Given the description of an element on the screen output the (x, y) to click on. 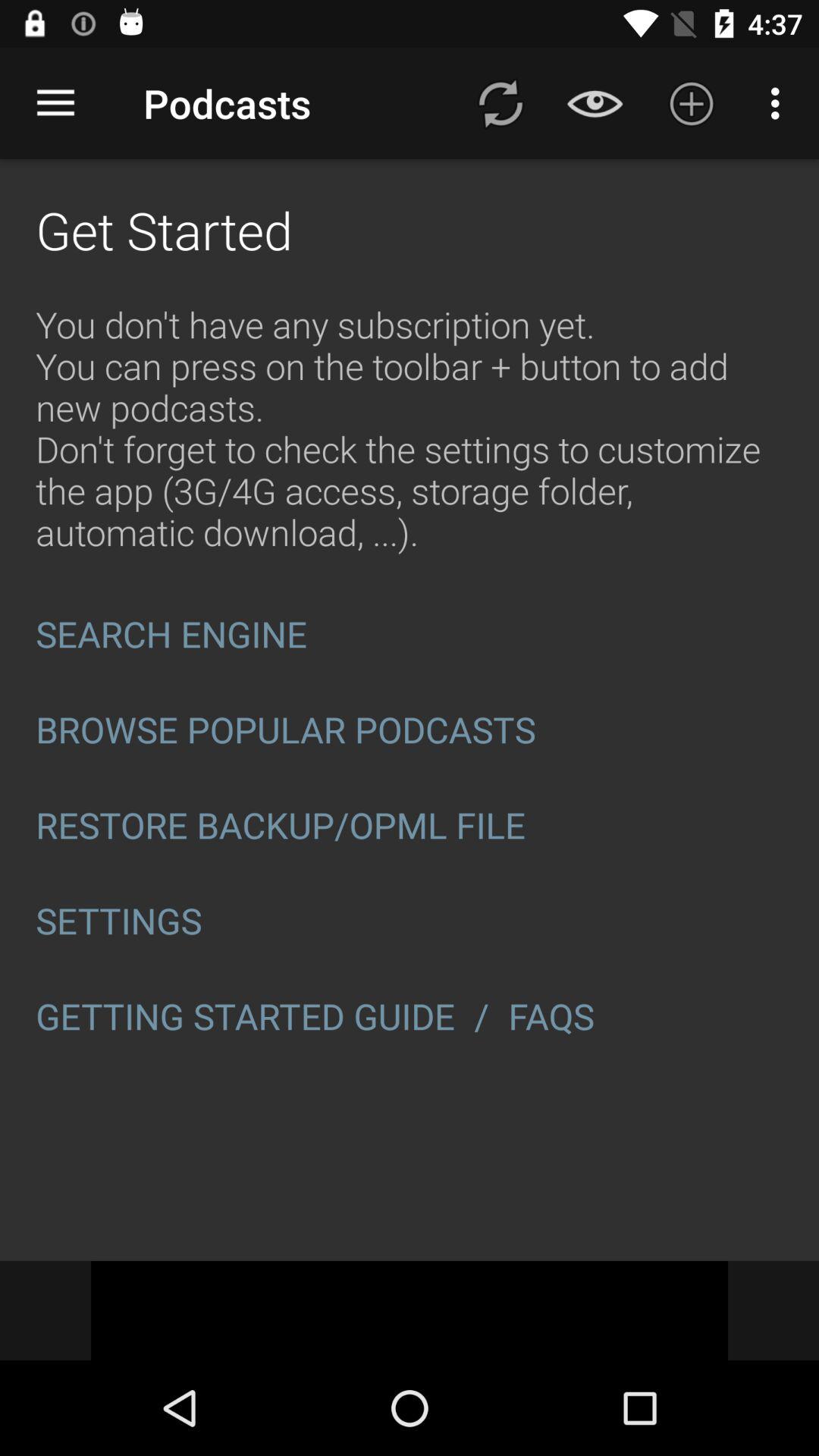
press item to the right of  /  icon (556, 1016)
